Given the description of an element on the screen output the (x, y) to click on. 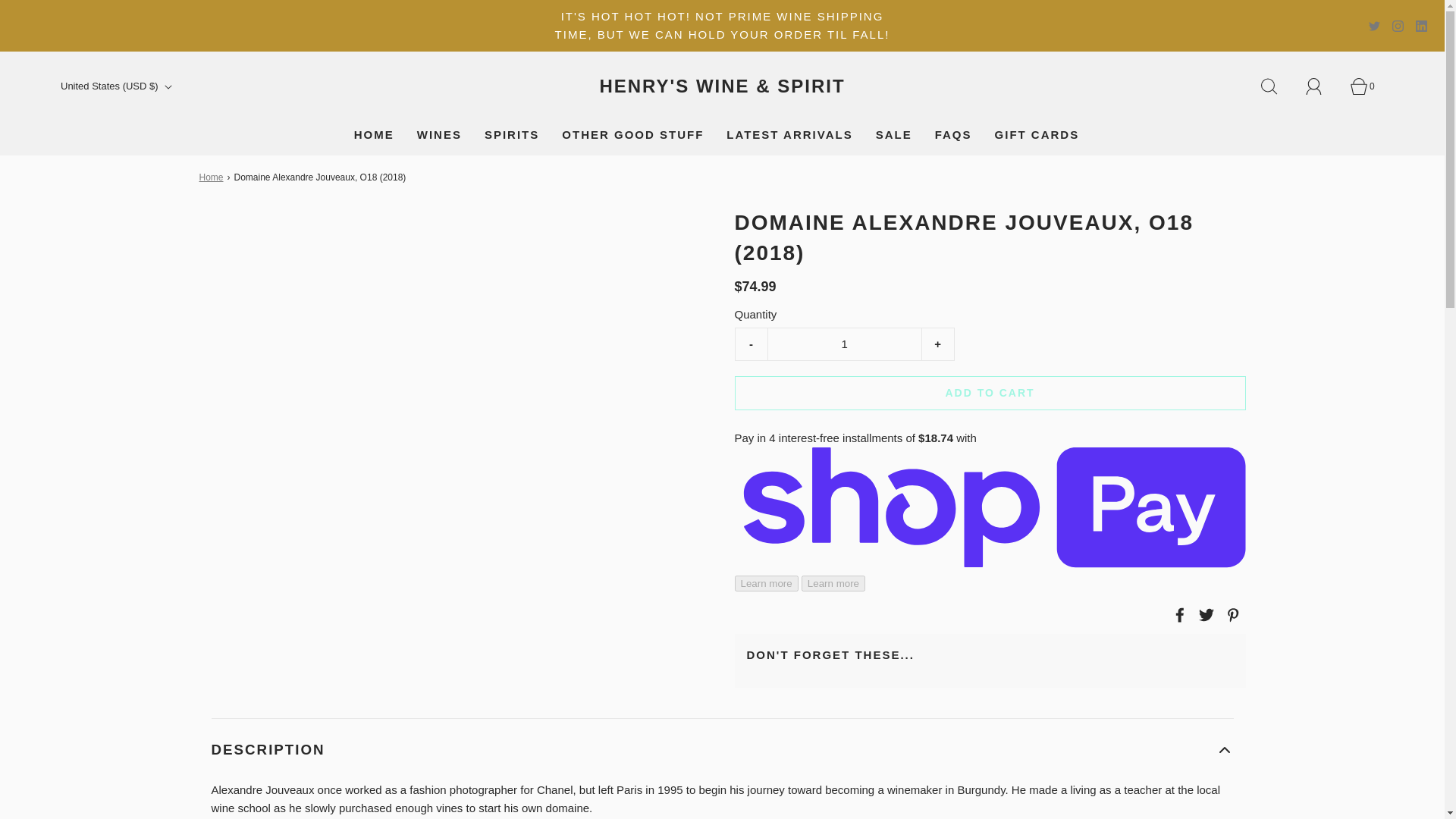
TWITTER ICON (1374, 25)
WINES (438, 134)
LINKEDIN ICON (1420, 25)
0 (1367, 86)
HOME (373, 134)
1 (843, 344)
Cart (1367, 86)
Back to the frontpage (212, 177)
Search (1277, 86)
LINKEDIN ICON (1420, 25)
TWITTER ICON (1374, 25)
Log in (1322, 86)
INSTAGRAM ICON (1397, 25)
INSTAGRAM ICON (1397, 25)
